Given the description of an element on the screen output the (x, y) to click on. 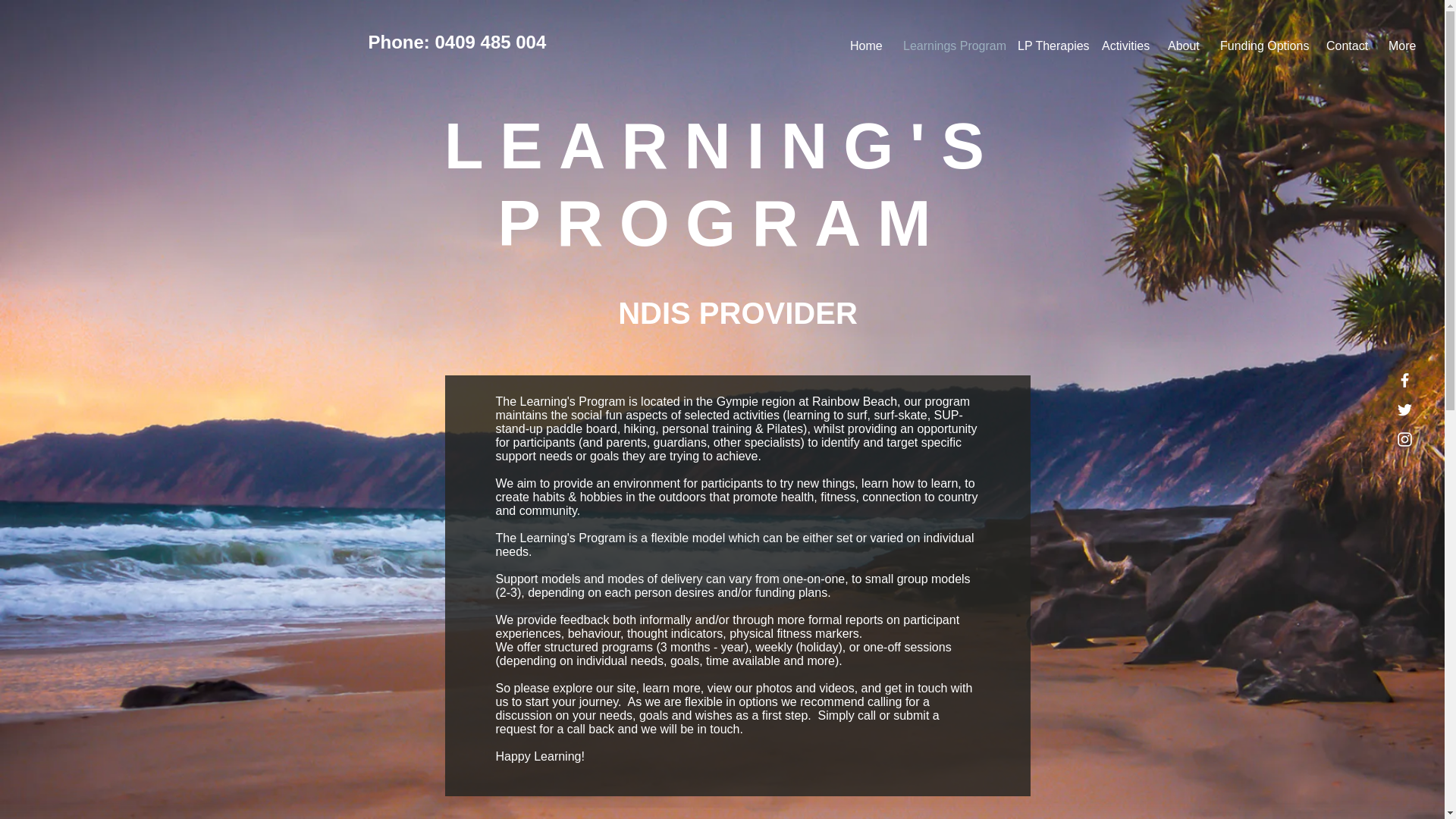
About (1182, 46)
Learnings Program (948, 46)
LP Therapies (1048, 46)
Activities (1123, 46)
Funding Options (1261, 46)
Home (864, 46)
Contact (1345, 46)
Phone: 0409 485 004 (457, 41)
